Given the description of an element on the screen output the (x, y) to click on. 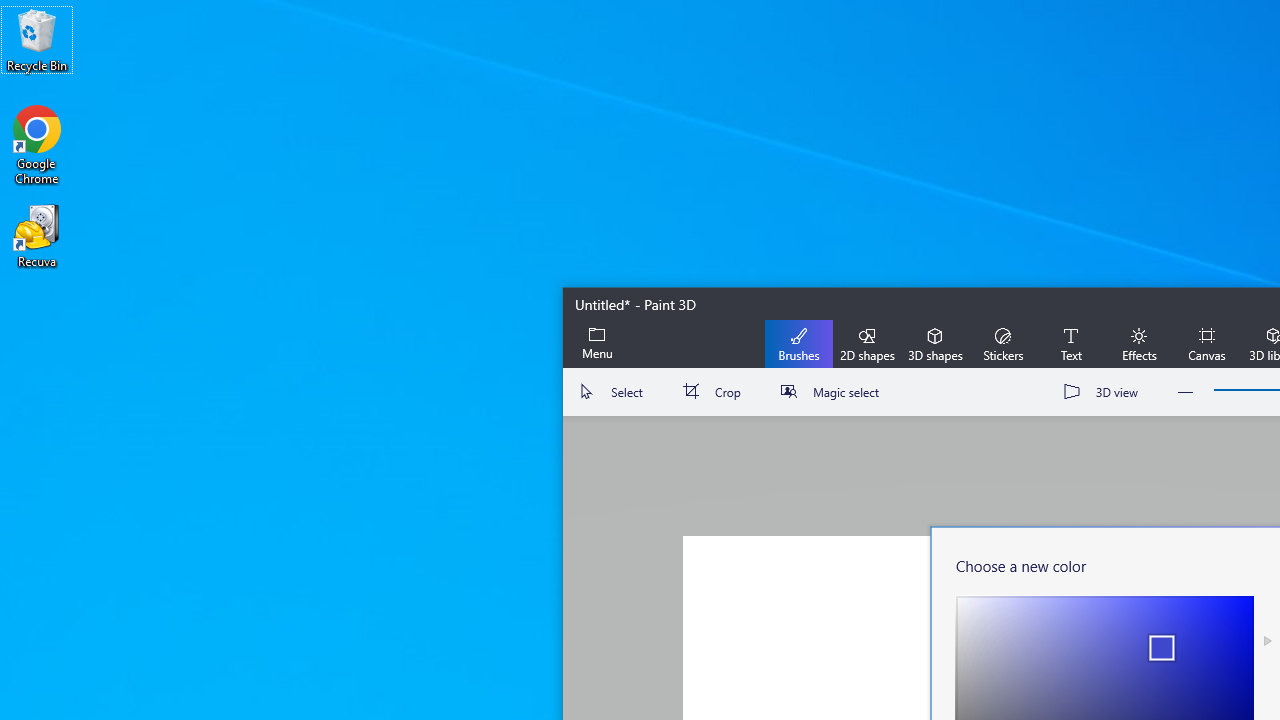
Google Chrome (37, 144)
Recycle Bin (37, 39)
Recuva (37, 235)
